Given the description of an element on the screen output the (x, y) to click on. 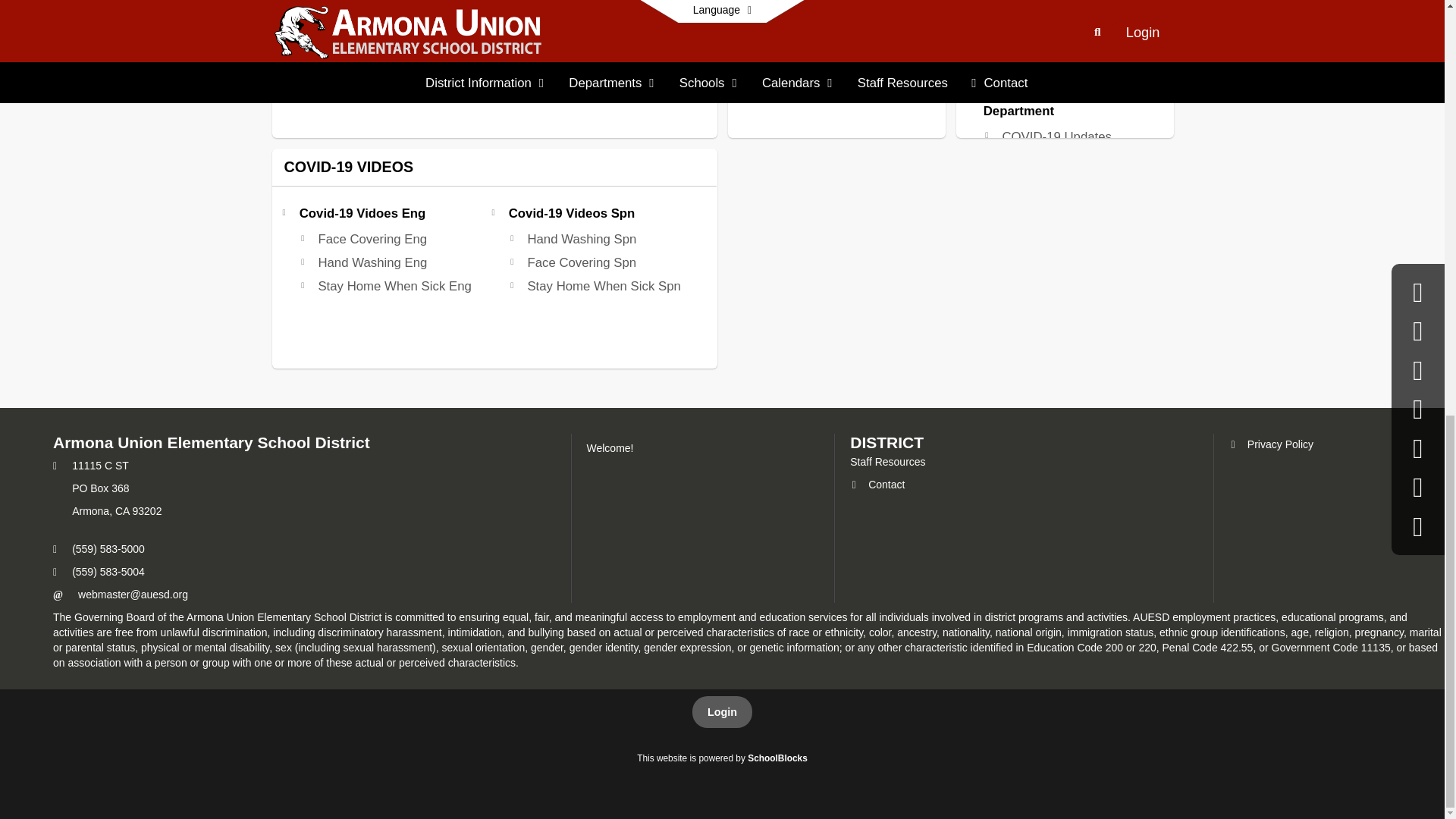
Contact (877, 484)
Privacy Policy (1270, 444)
10 Things to Manage Covid19 at Home Eng (391, 4)
COVID-19 (1030, 0)
COVID-19 Data Tracker (1069, 16)
Email (132, 594)
Fax (54, 572)
Non Pharmaceutical Interventions (1058, 49)
Staff Resources (887, 461)
Email (57, 594)
Primary Phone Number (54, 548)
